Given the description of an element on the screen output the (x, y) to click on. 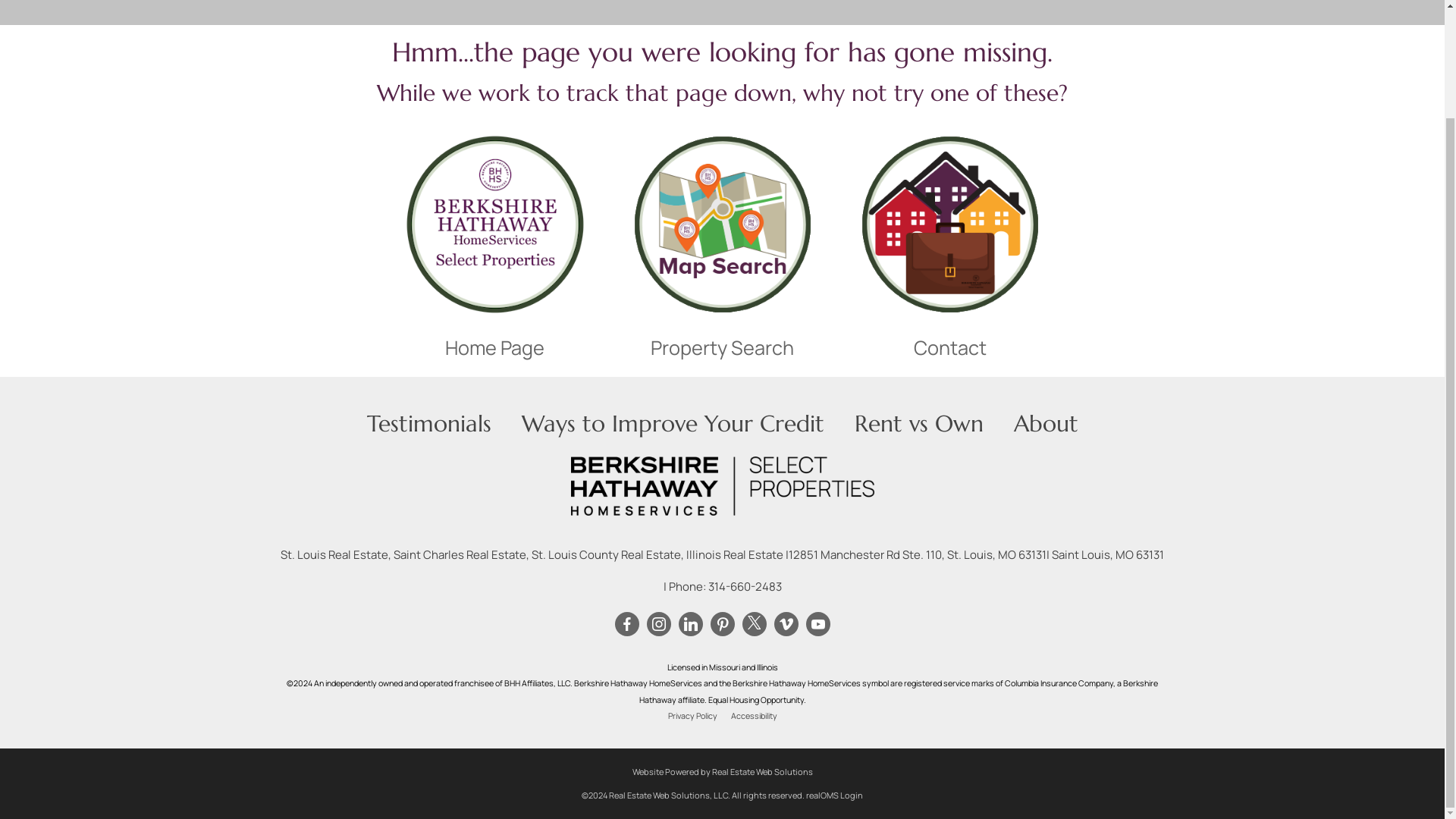
Visit me on Vimeo (785, 623)
Testimonials (429, 423)
Visit me on LinkedIn (690, 623)
Visit me on Pinterest (722, 623)
Visit me on Facebook (626, 623)
About (1045, 423)
Let's connect (950, 224)
Let's go home (494, 224)
Rent vs Own (917, 423)
Find your new home today (721, 224)
